Given the description of an element on the screen output the (x, y) to click on. 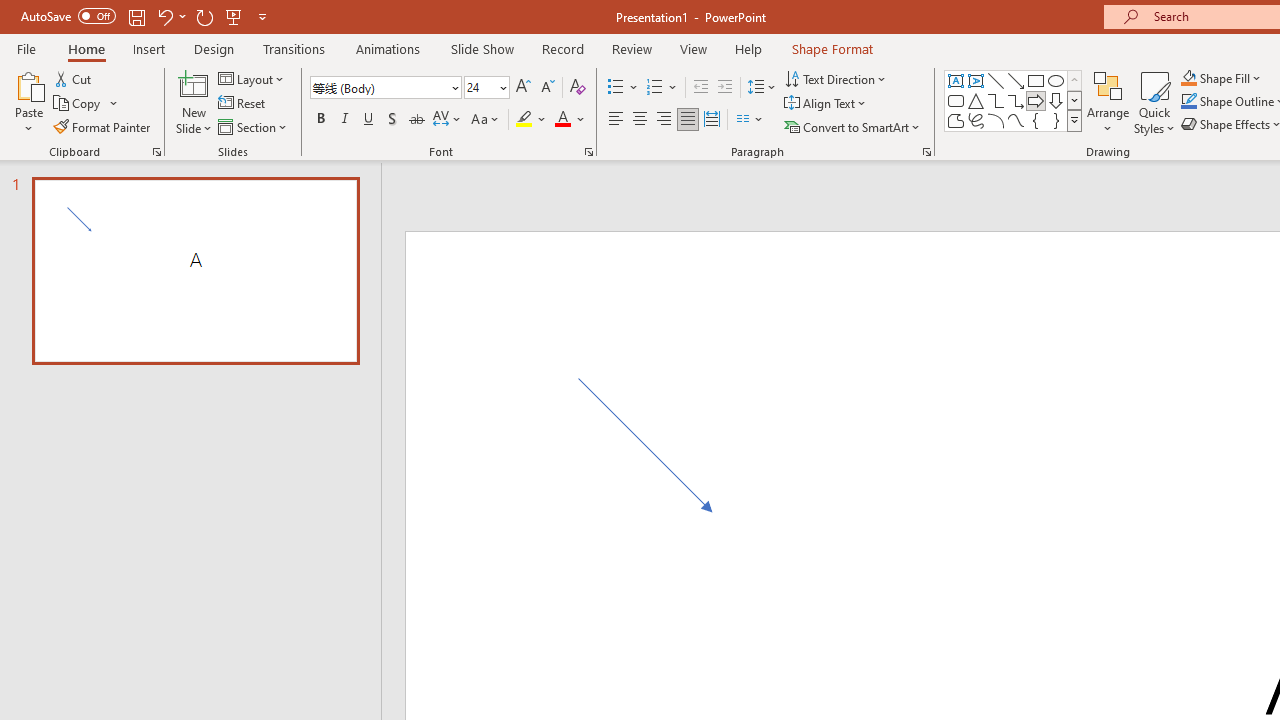
Shape Format (832, 48)
